Given the description of an element on the screen output the (x, y) to click on. 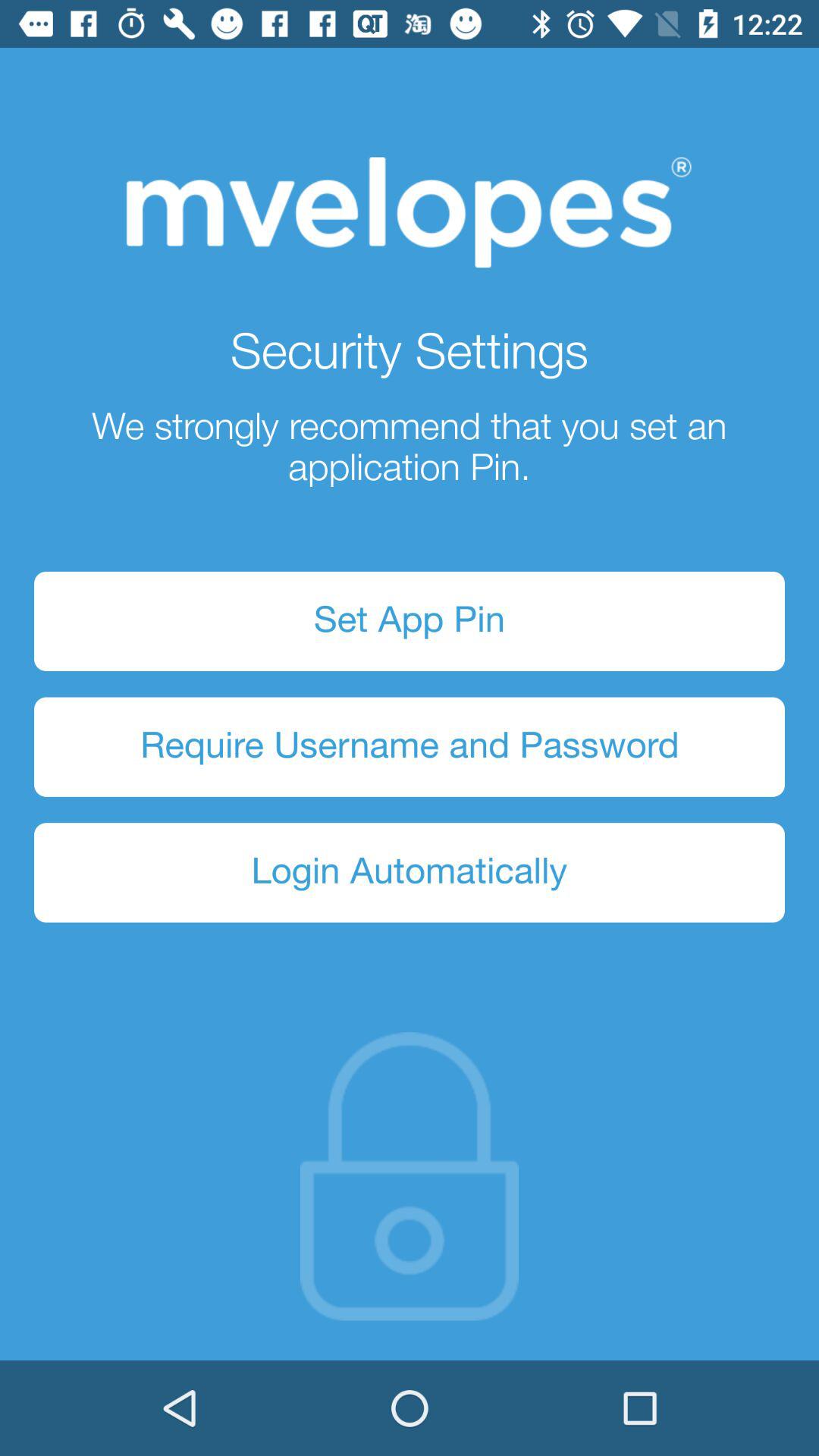
open login automatically item (409, 872)
